Given the description of an element on the screen output the (x, y) to click on. 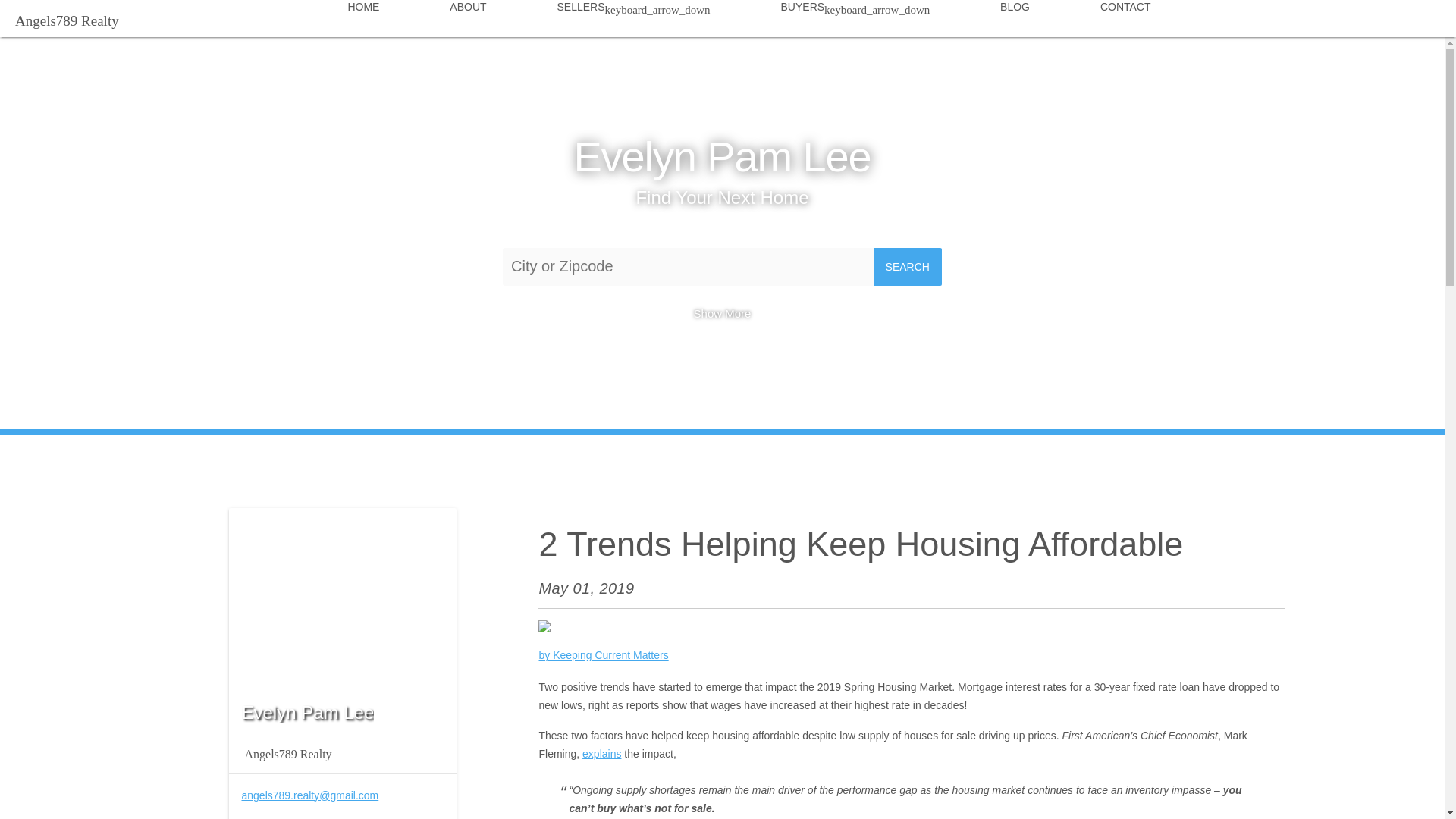
explains (601, 753)
Evelyn Pam Lee (721, 156)
by Keeping Current Matters (603, 654)
HOME (363, 12)
SEARCH (907, 266)
BLOG (1015, 12)
ABOUT (467, 12)
CONTACT (1125, 12)
